Given the description of an element on the screen output the (x, y) to click on. 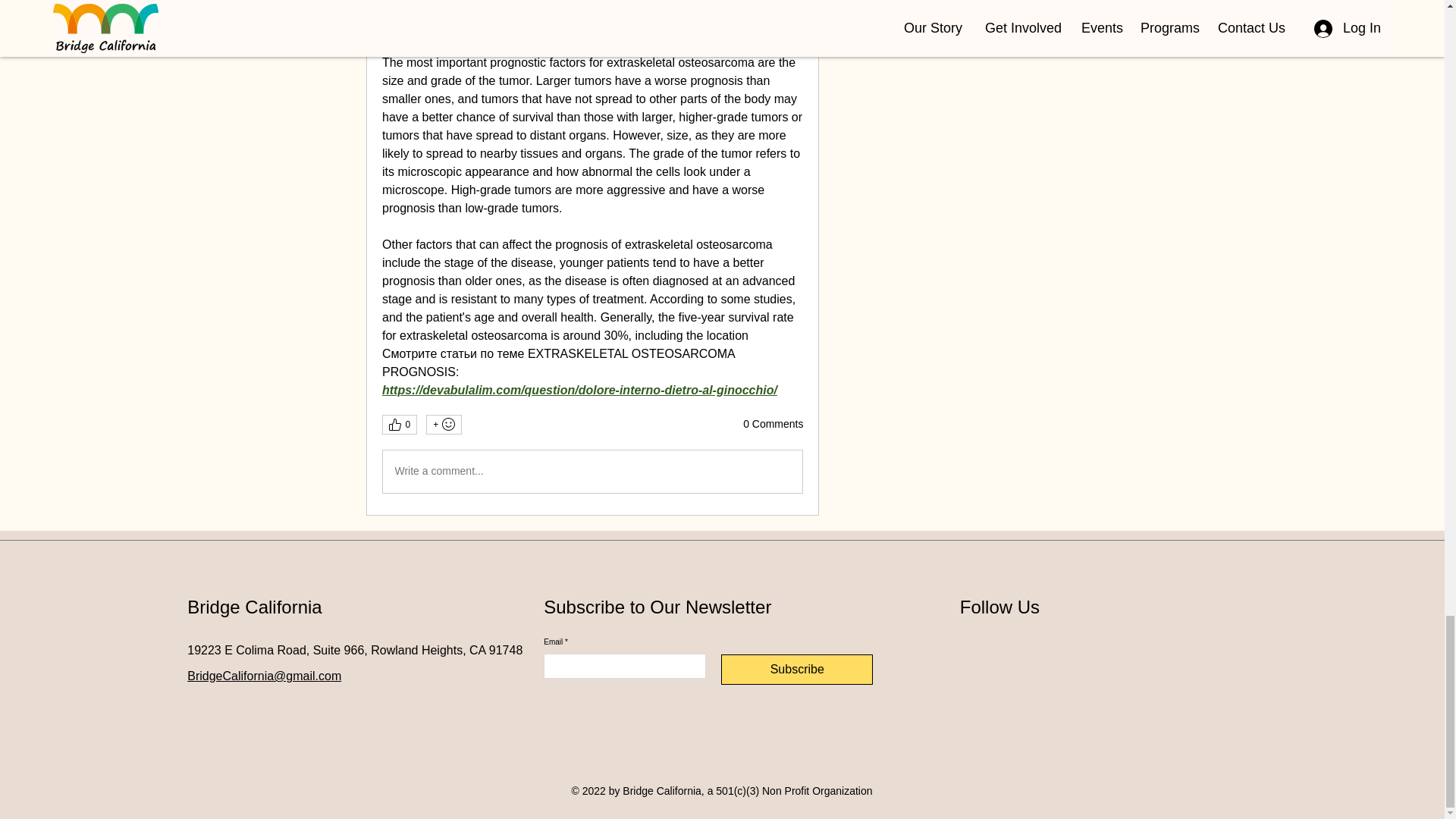
Write a comment... (591, 471)
Bridge California (254, 607)
Subscribe (796, 669)
0 Comments (772, 424)
